Given the description of an element on the screen output the (x, y) to click on. 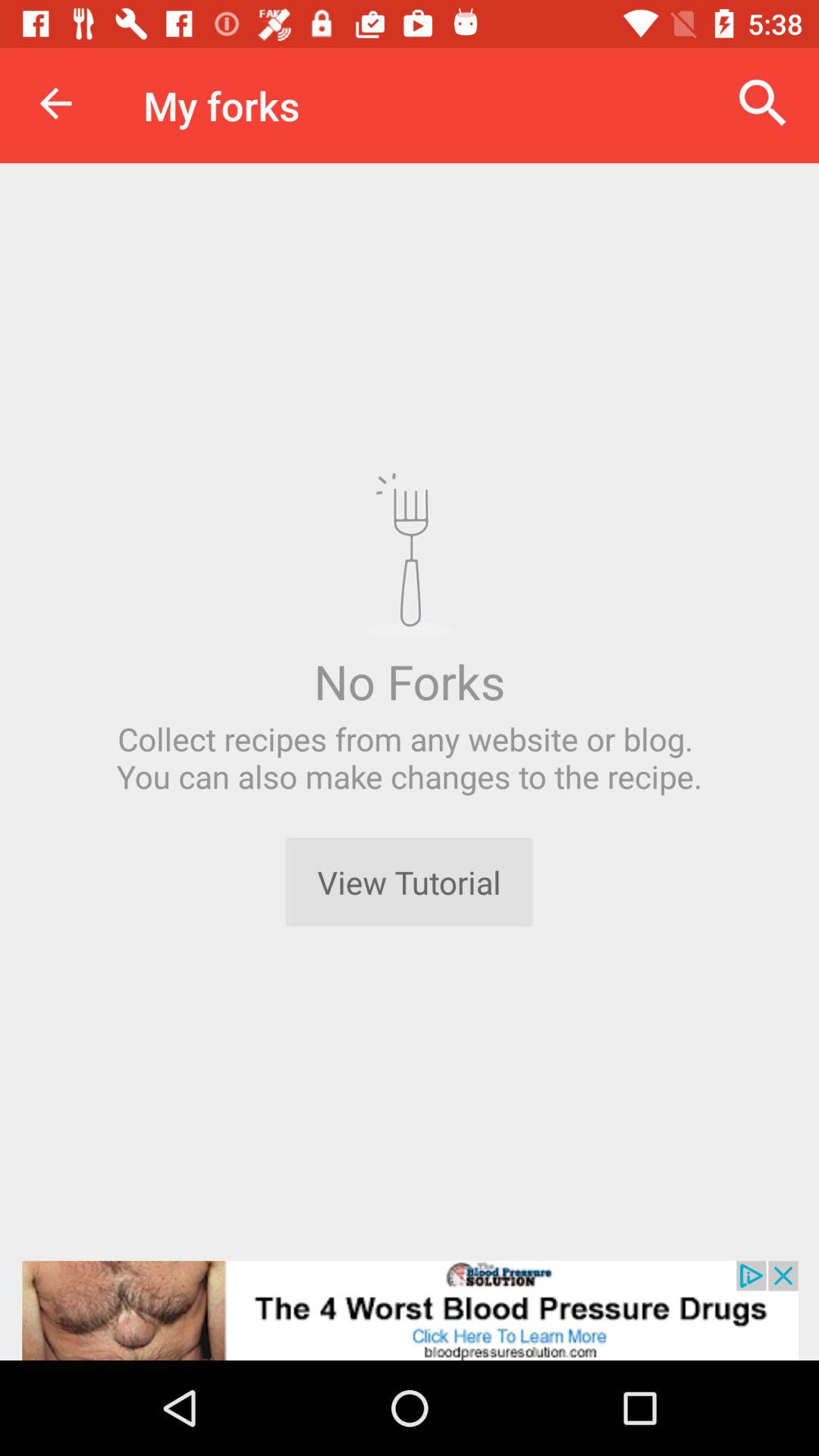
open advertisement page (409, 1310)
